Given the description of an element on the screen output the (x, y) to click on. 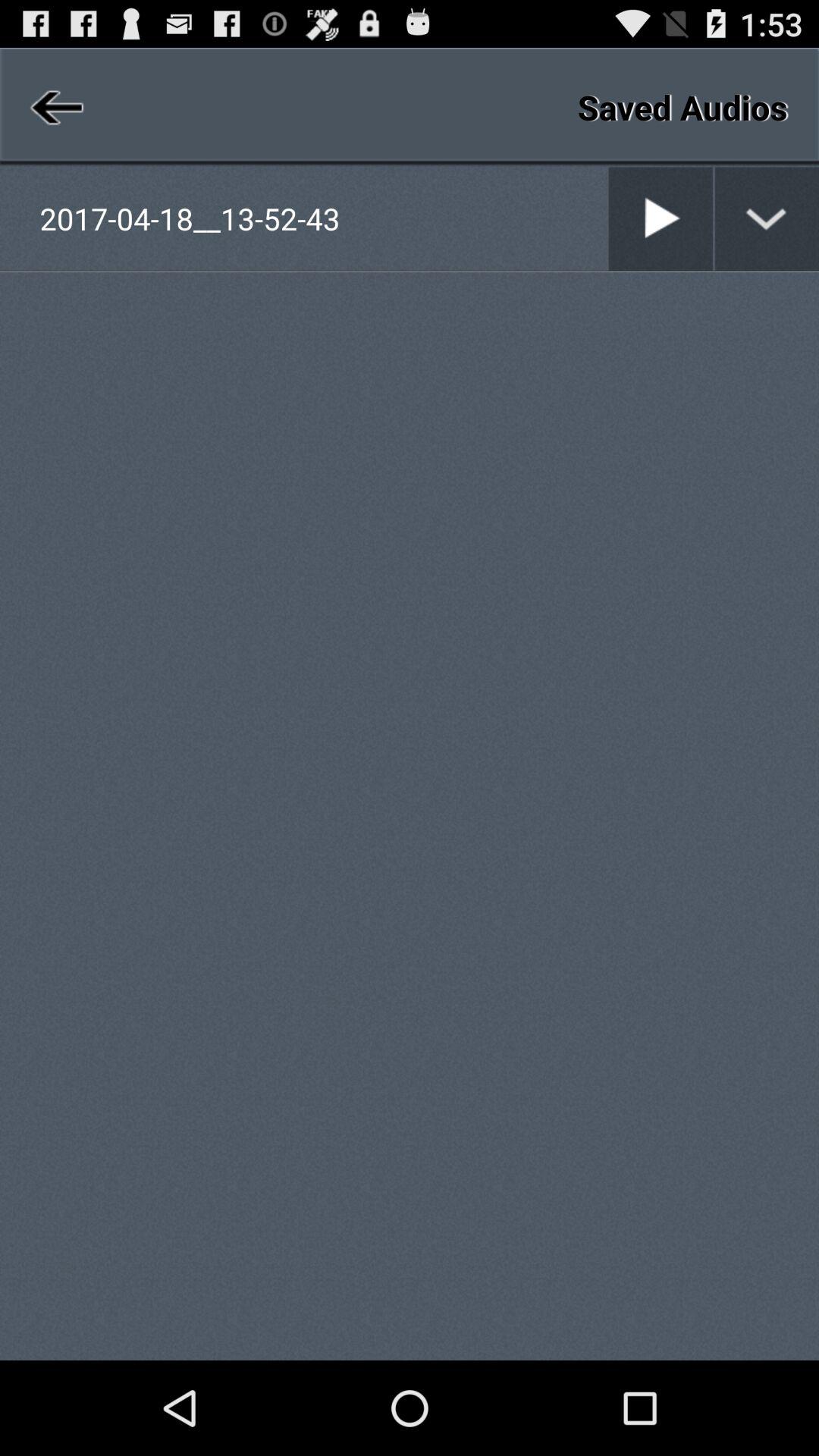
go back (54, 107)
